Given the description of an element on the screen output the (x, y) to click on. 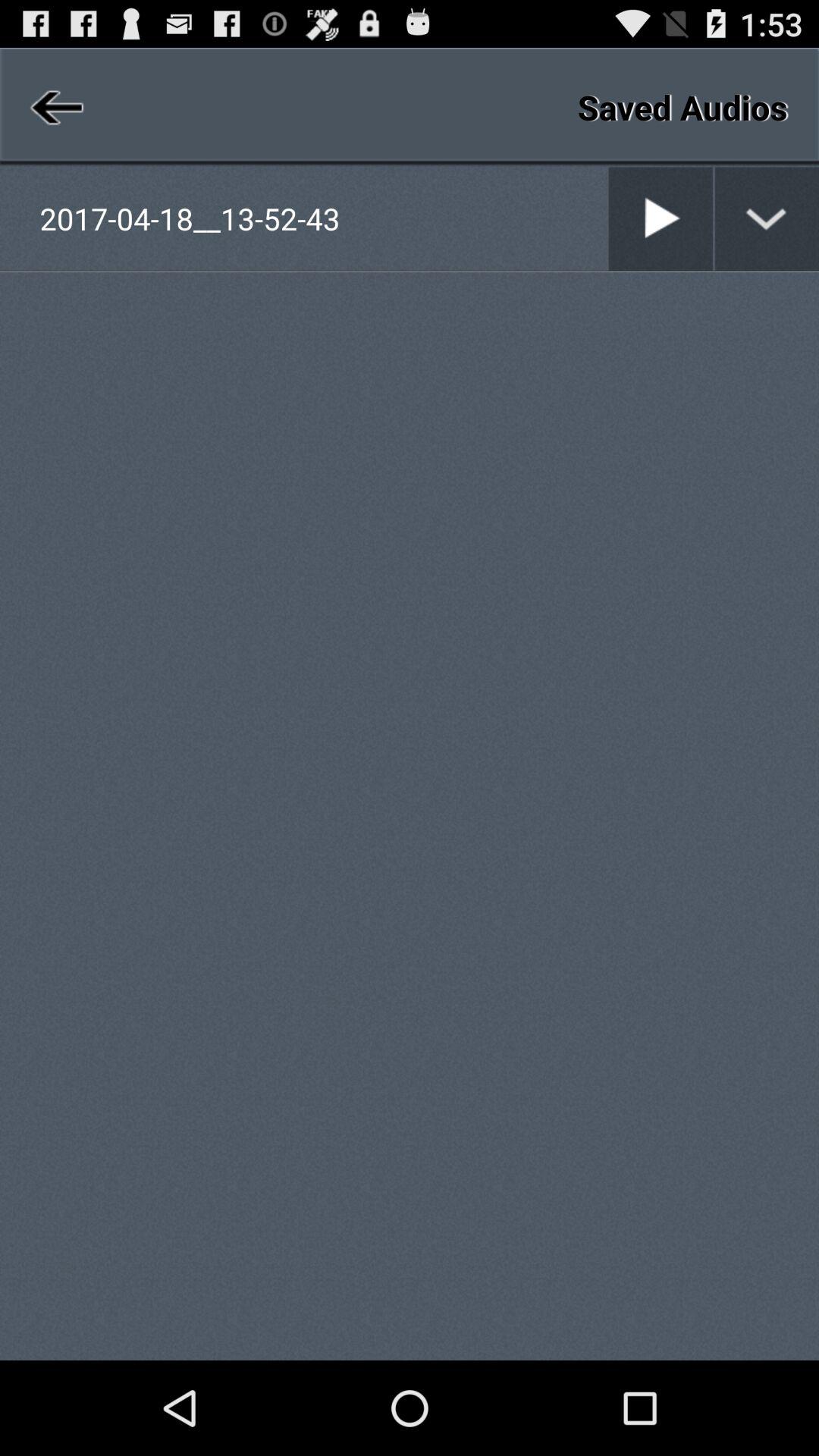
go back (54, 107)
